Given the description of an element on the screen output the (x, y) to click on. 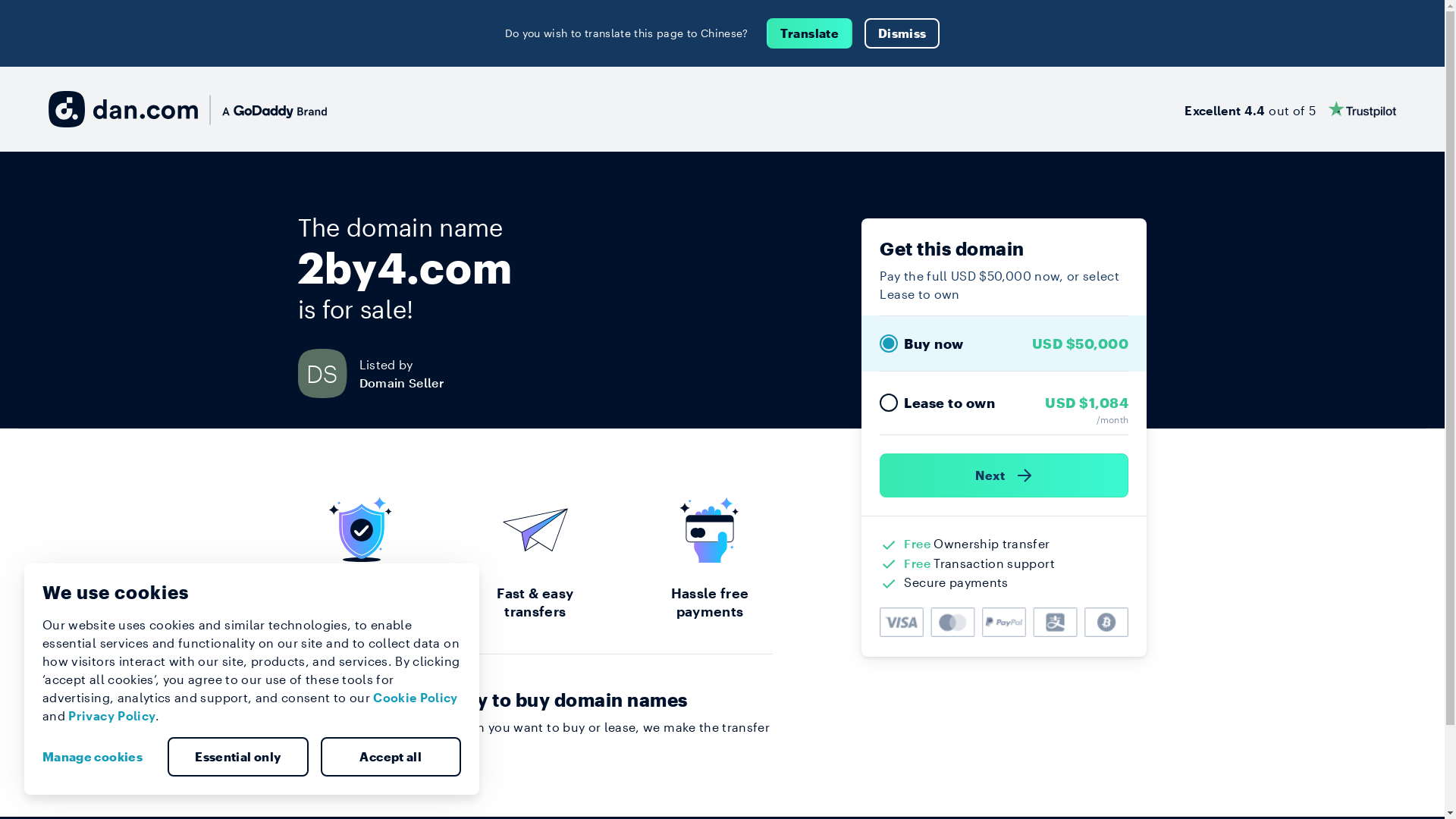
Manage cookies Element type: text (98, 756)
Dismiss Element type: text (901, 33)
Excellent 4.4 out of 5 Element type: text (1290, 109)
Translate Element type: text (809, 33)
Cookie Policy Element type: text (415, 697)
Privacy Policy Element type: text (111, 715)
Accept all Element type: text (390, 756)
Next
) Element type: text (1003, 475)
Essential only Element type: text (237, 756)
